Given the description of an element on the screen output the (x, y) to click on. 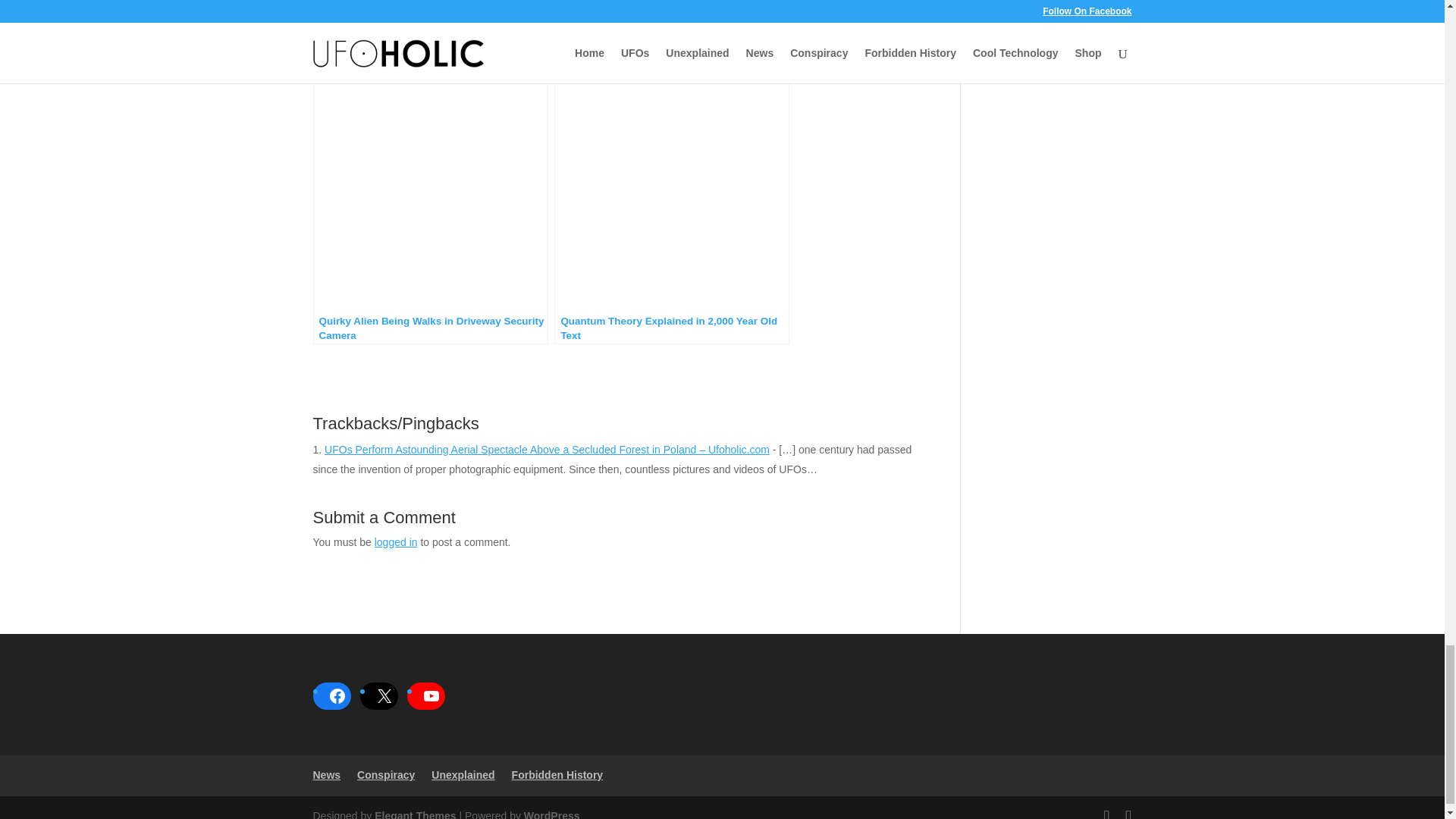
Quirky Alien Being Walks in Driveway Security Camera (430, 210)
logged in (395, 541)
X (383, 696)
Quantum Theory Explained in 2,000 Year Old Text (671, 210)
Premium WordPress Themes (414, 814)
Quantum Theory Explained in 2,000 Year Old Text (671, 210)
Quirky Alien Being Walks in Driveway Security Camera (430, 210)
Conspiracy (385, 775)
Numeric Symbol Found on Both the Moon and Mars (671, 35)
Numeric Symbol Found on Both the Moon and Mars (671, 35)
News (326, 775)
Facebook (336, 696)
YouTube (430, 696)
